Given the description of an element on the screen output the (x, y) to click on. 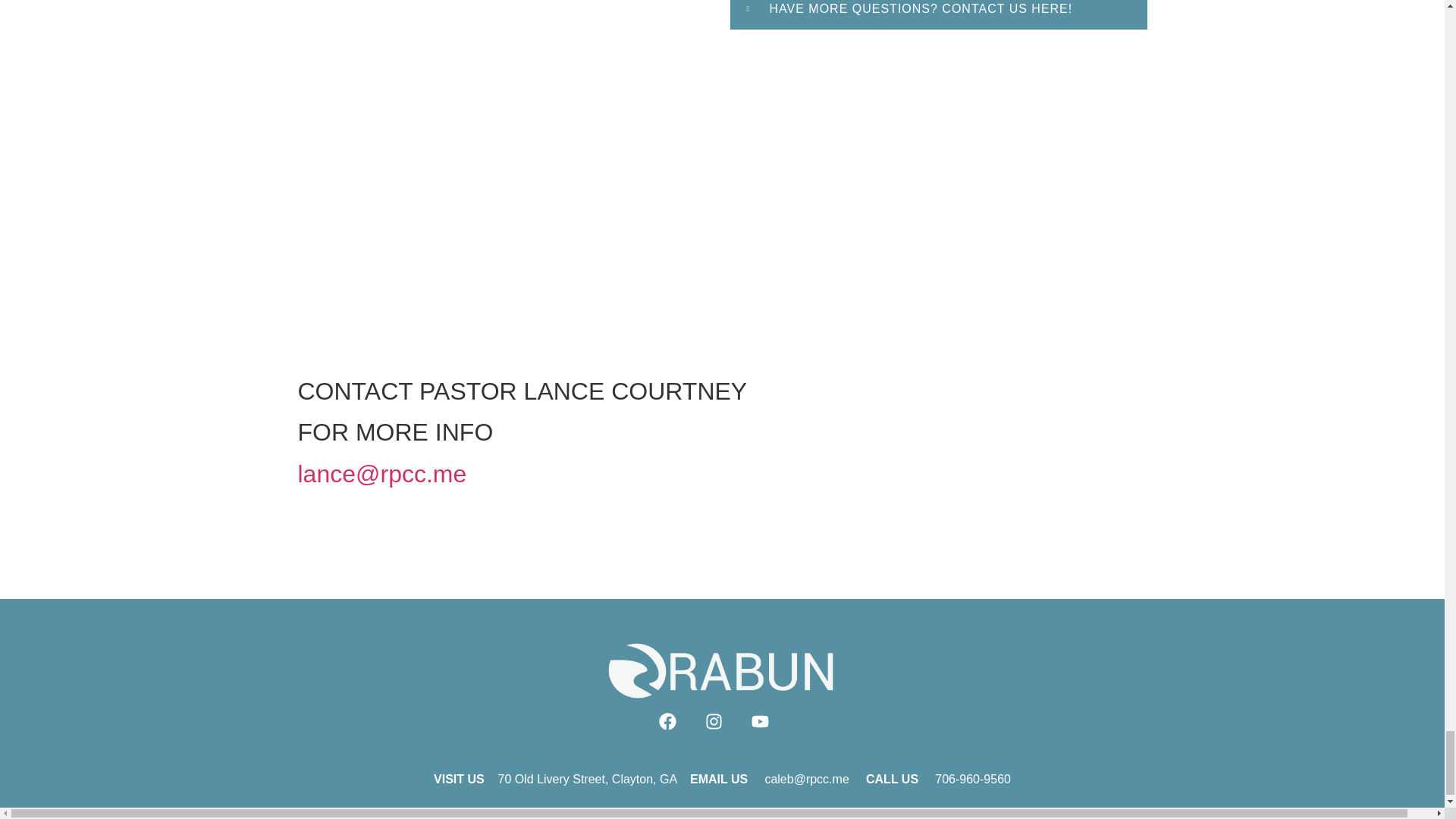
HAVE MORE QUESTIONS? CONTACT US HERE! (919, 14)
